Given the description of an element on the screen output the (x, y) to click on. 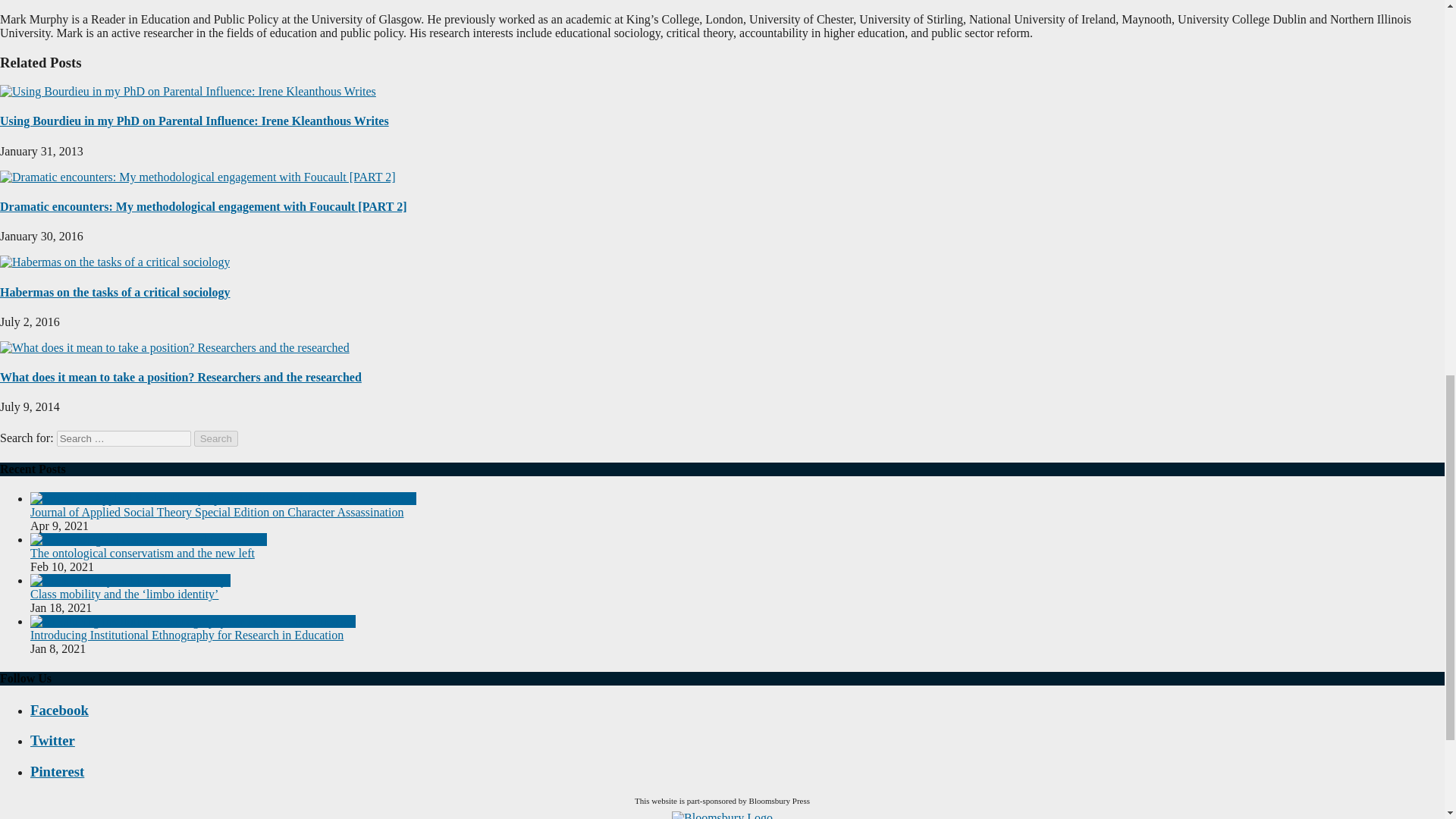
Search (215, 438)
Search (215, 438)
The ontological conservatism and the new left (148, 539)
Habermas on the tasks of a critical sociology (115, 261)
